Given the description of an element on the screen output the (x, y) to click on. 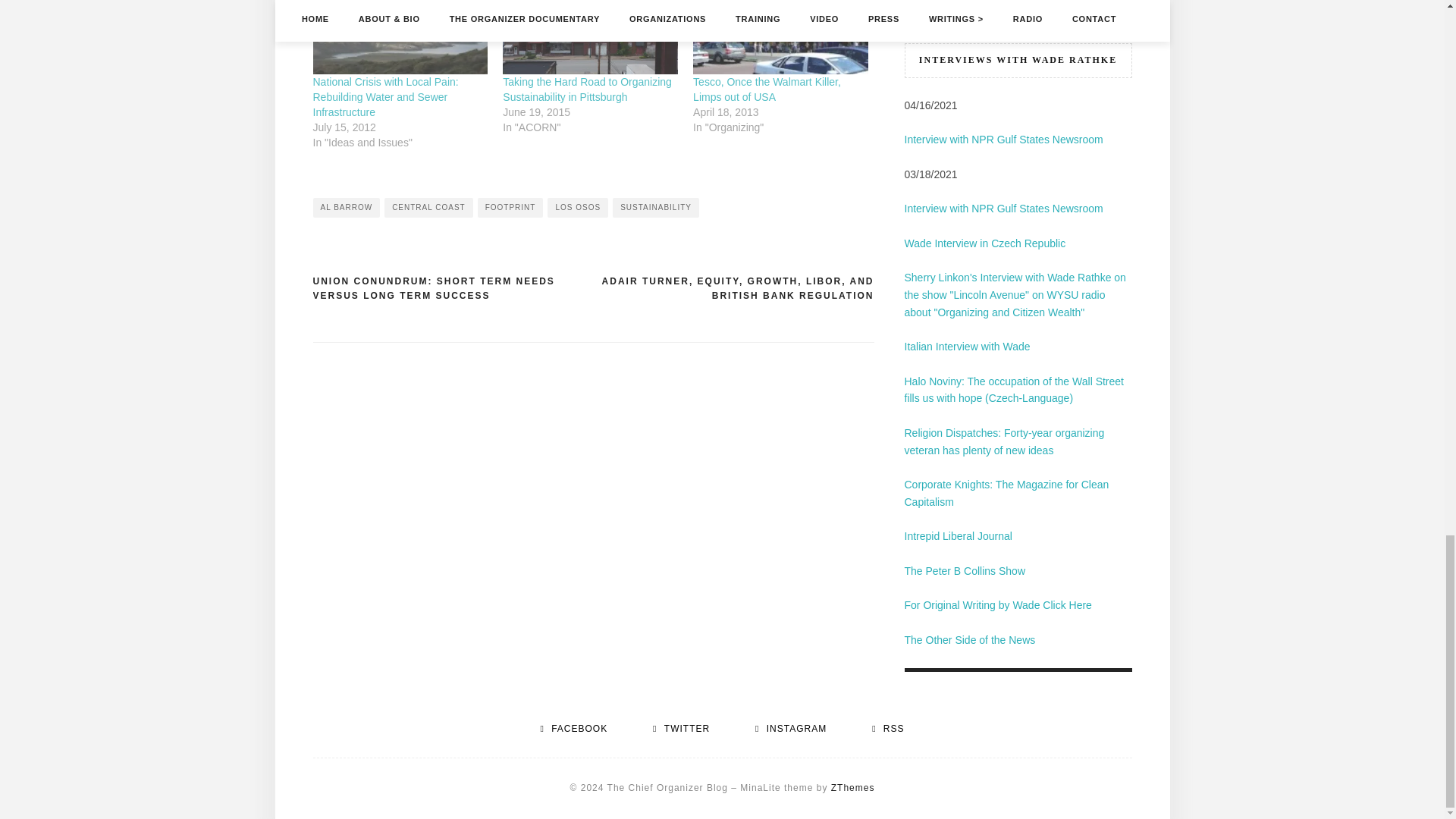
AL BARROW (346, 207)
Tesco, Once the Walmart Killer, Limps out of USA (767, 89)
CENTRAL COAST (428, 207)
FOOTPRINT (510, 207)
LOS OSOS (577, 207)
